Given the description of an element on the screen output the (x, y) to click on. 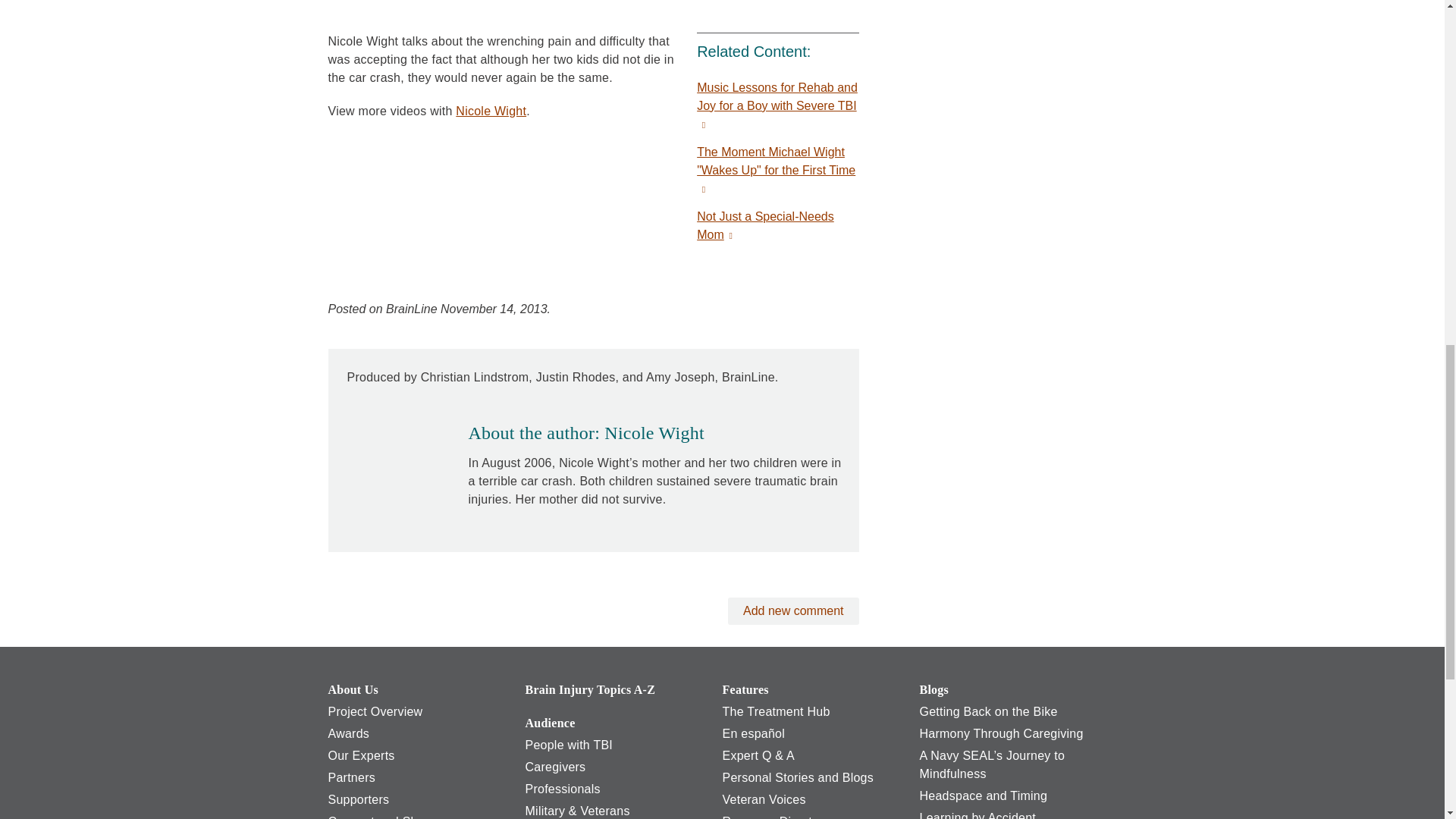
Share your thoughts and opinions related to this posting. (793, 610)
